Given the description of an element on the screen output the (x, y) to click on. 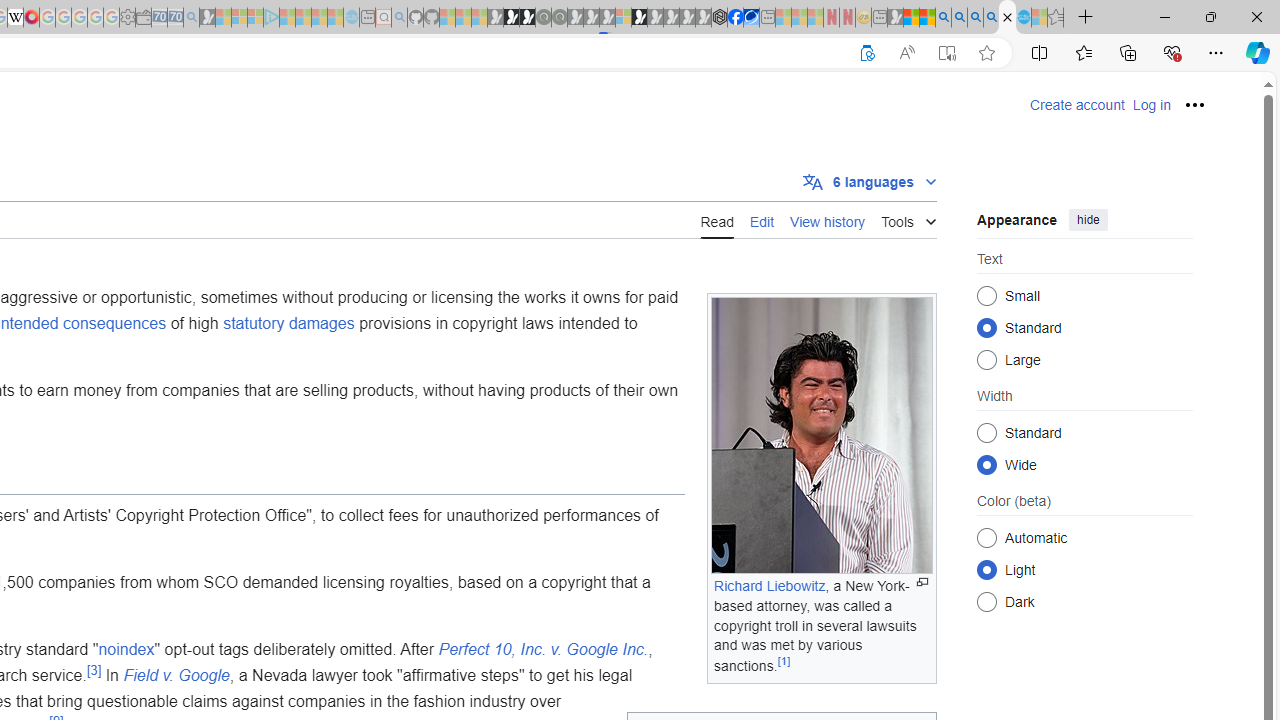
Light (986, 569)
Read (716, 219)
Create account (1077, 105)
Edit (761, 219)
Services - Maintenance | Sky Blue Bikes - Sky Blue Bikes (1023, 17)
Small (986, 295)
Class: mw-list-item mw-list-item-js (1084, 569)
